Given the description of an element on the screen output the (x, y) to click on. 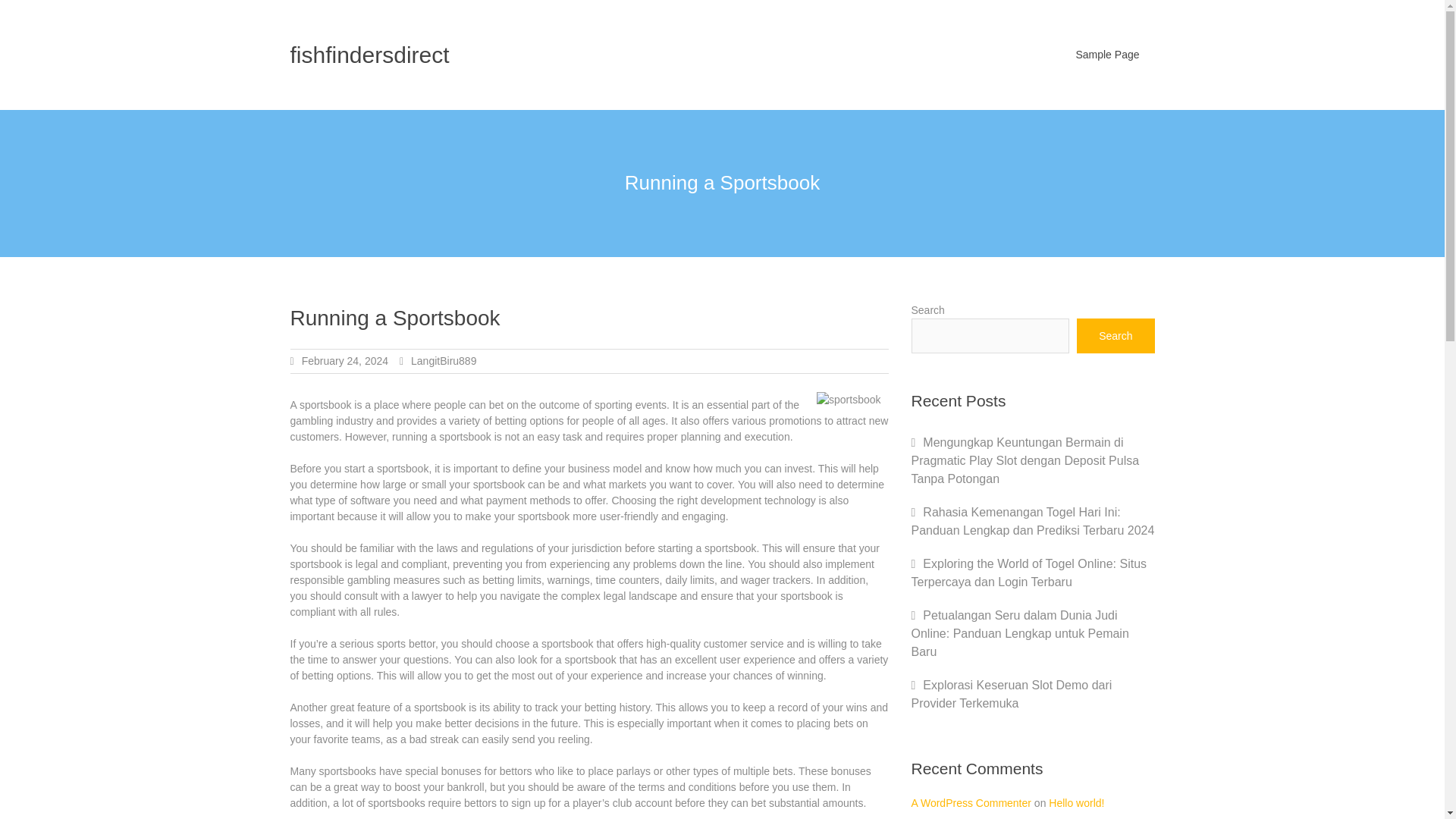
February 24, 2024 (344, 360)
Sample Page (1106, 55)
Hello world! (1075, 802)
Explorasi Keseruan Slot Demo dari Provider Terkemuka (1011, 694)
LangitBiru889 (443, 360)
A WordPress Commenter (970, 802)
fishfindersdirect (368, 54)
Search (1115, 335)
